Given the description of an element on the screen output the (x, y) to click on. 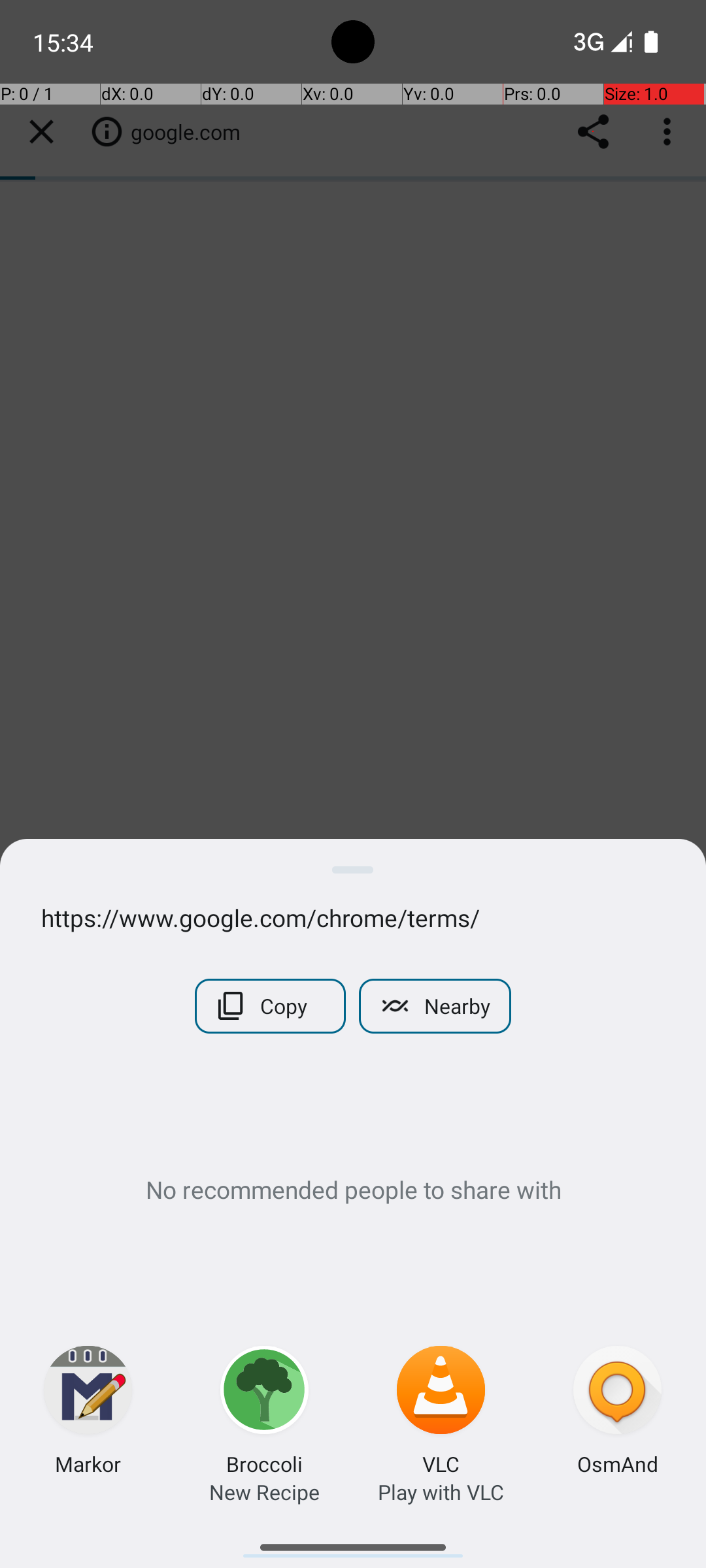
Apps list Element type: android.widget.ImageView (353, 1541)
https://www.google.com/chrome/terms/ Element type: android.widget.TextView (352, 917)
Copy Element type: android.widget.Button (269, 1005)
Nearby Element type: android.widget.Button (434, 1005)
No recommended people to share with Element type: android.widget.TextView (353, 1189)
Markor Element type: android.widget.TextView (87, 1463)
Broccoli Element type: android.widget.TextView (264, 1463)
New Recipe Element type: android.widget.TextView (264, 1491)
VLC Element type: android.widget.TextView (440, 1463)
Play with VLC Element type: android.widget.TextView (440, 1491)
OsmAnd Element type: android.widget.TextView (617, 1463)
